Given the description of an element on the screen output the (x, y) to click on. 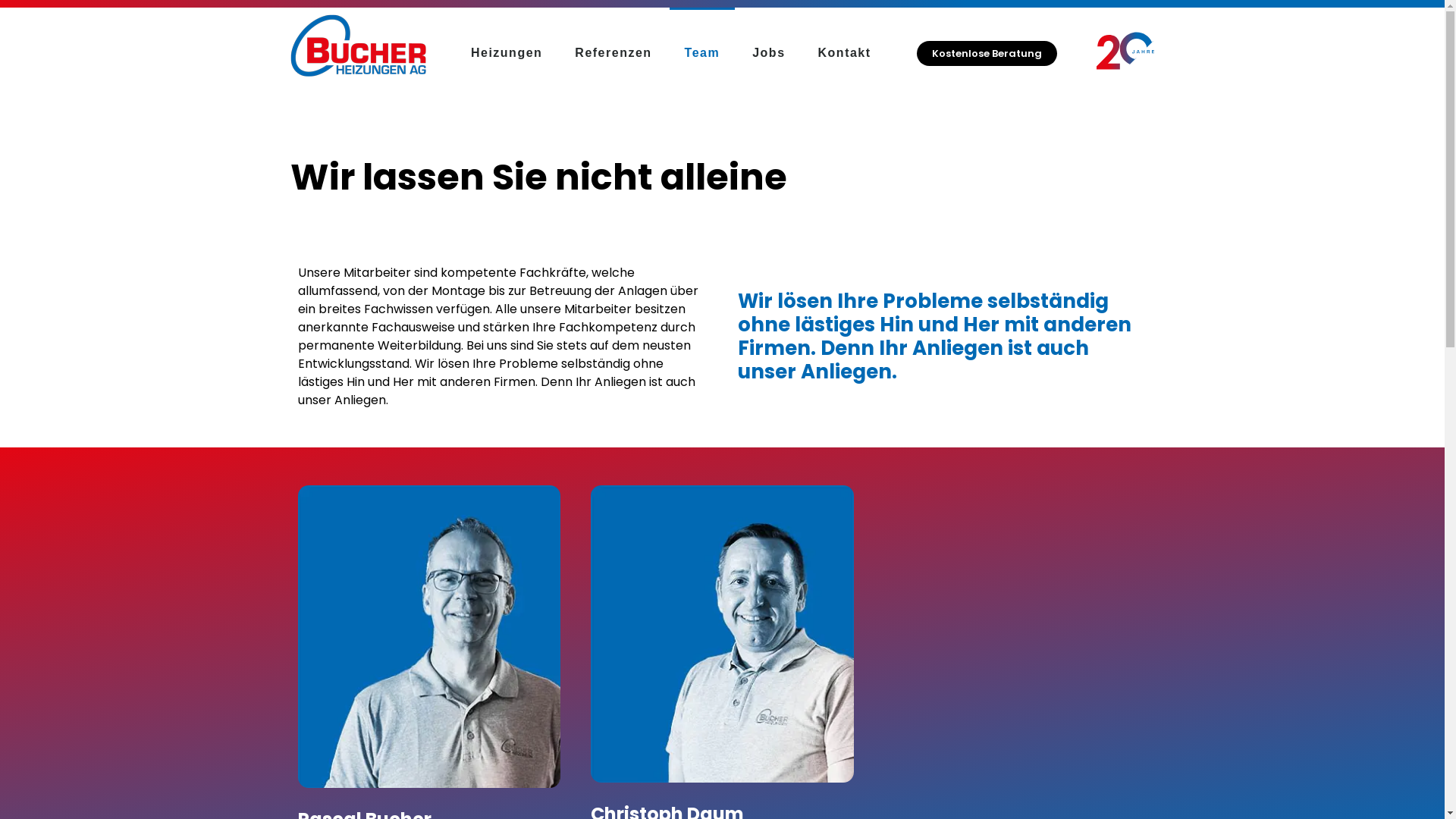
Jobs Element type: text (768, 52)
Team Element type: text (702, 52)
Heizungen Element type: text (506, 52)
Kontakt Element type: text (844, 52)
Referenzen Element type: text (612, 52)
Kostenlose Beratung Element type: text (986, 52)
